Given the description of an element on the screen output the (x, y) to click on. 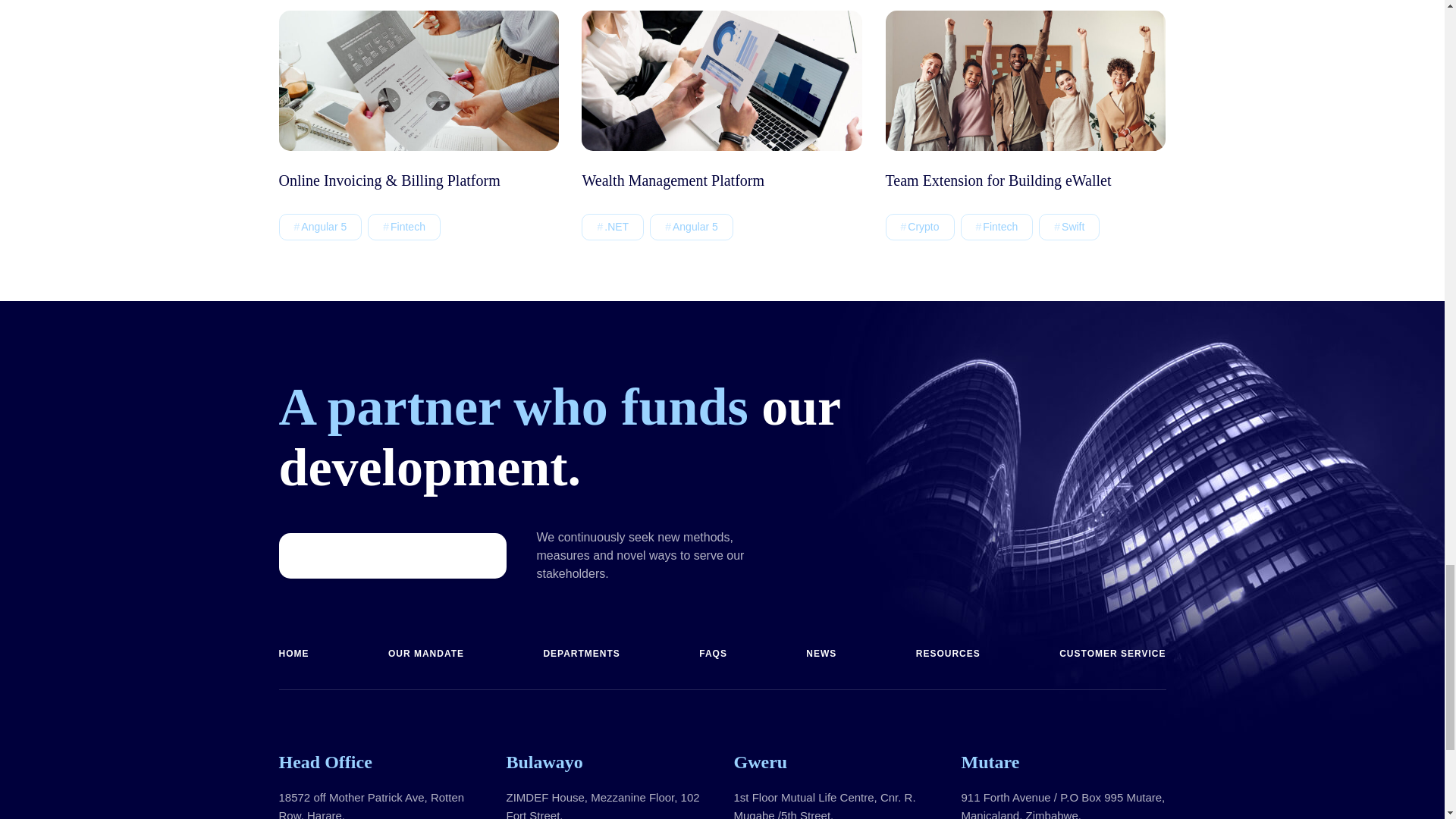
c6 (1025, 80)
c3 (720, 80)
c5 (419, 80)
